Given the description of an element on the screen output the (x, y) to click on. 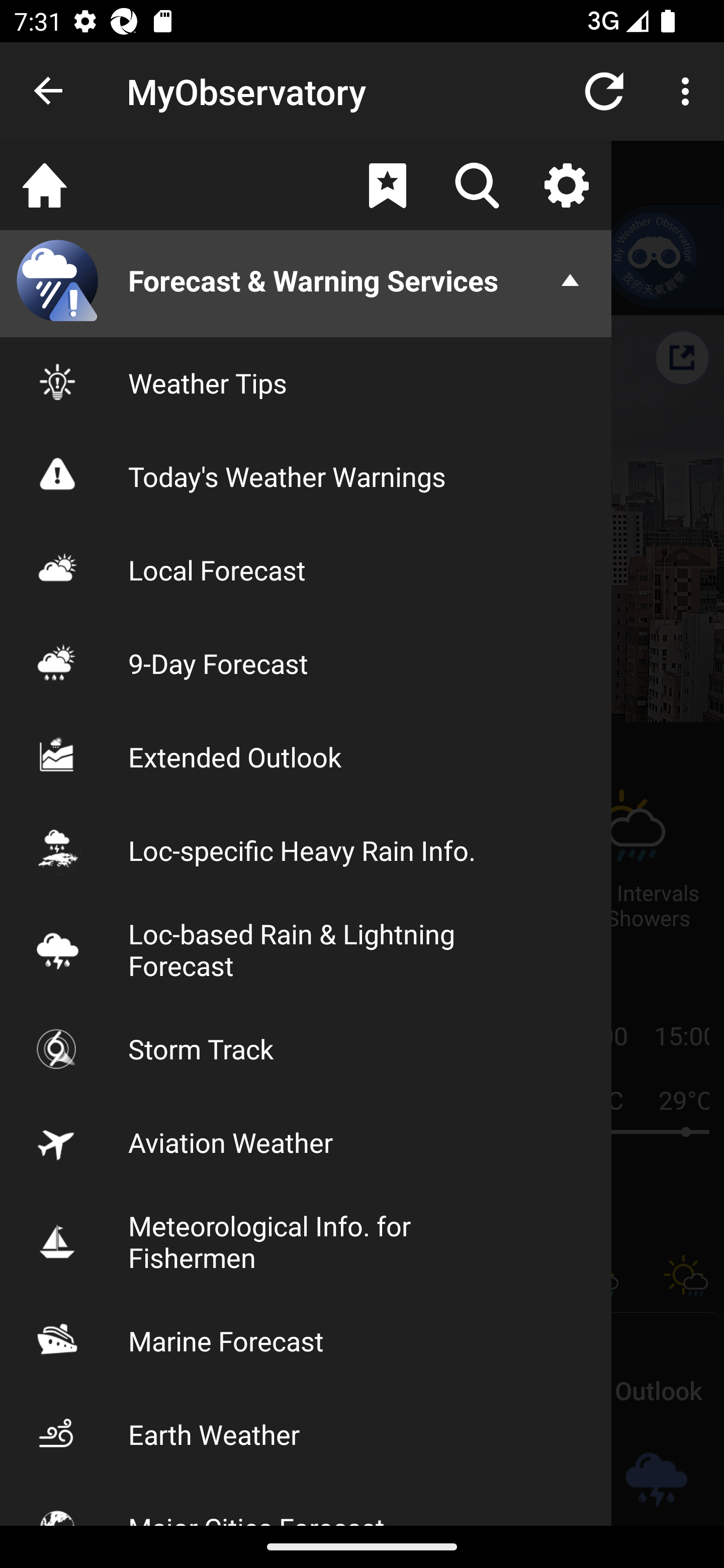
Navigate up (49, 91)
Refresh (604, 90)
More options (688, 90)
Homepage (44, 185)
Bookmark Manager (387, 185)
Search Unselected (477, 185)
Settings (566, 185)
Weather Tips (305, 382)
Today's Weather Warnings (305, 475)
Local Forecast (305, 569)
9-Day Forecast (305, 662)
Extended Outlook (305, 756)
Loc-specific Heavy Rain Info. (305, 850)
Loc-based Rain & Lightning Forecast (305, 949)
Storm Track (305, 1048)
Aviation Weather (305, 1142)
Meteorological Info. for Fishermen (305, 1241)
Marine Forecast (305, 1340)
Earth Weather (305, 1433)
